Given the description of an element on the screen output the (x, y) to click on. 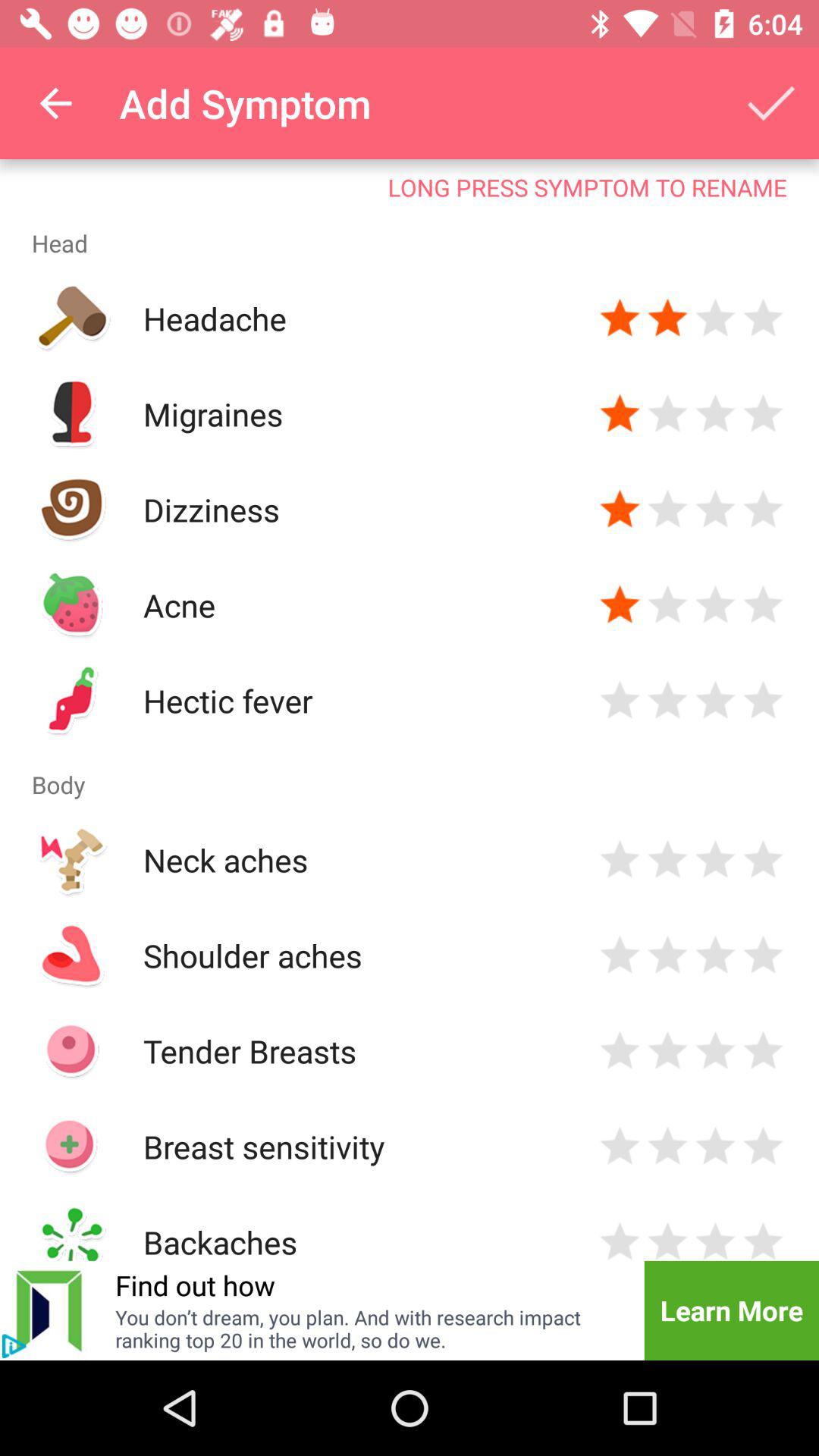
vote button (619, 1050)
